Given the description of an element on the screen output the (x, y) to click on. 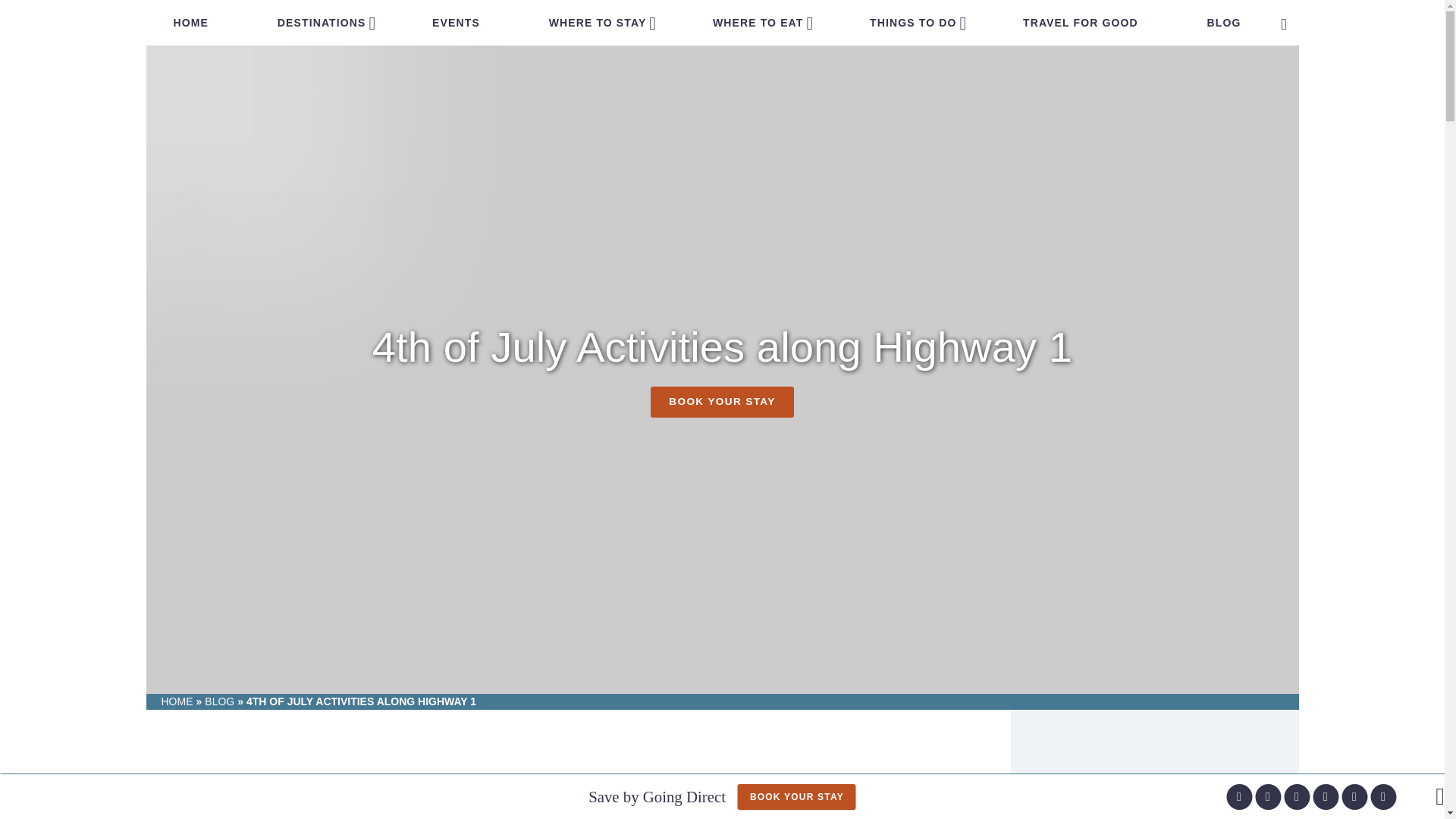
DESTINATIONS (321, 22)
WHERE TO EAT (757, 22)
THINGS TO DO (912, 22)
WHERE TO STAY (598, 22)
HOME (189, 22)
EVENTS (455, 22)
